Given the description of an element on the screen output the (x, y) to click on. 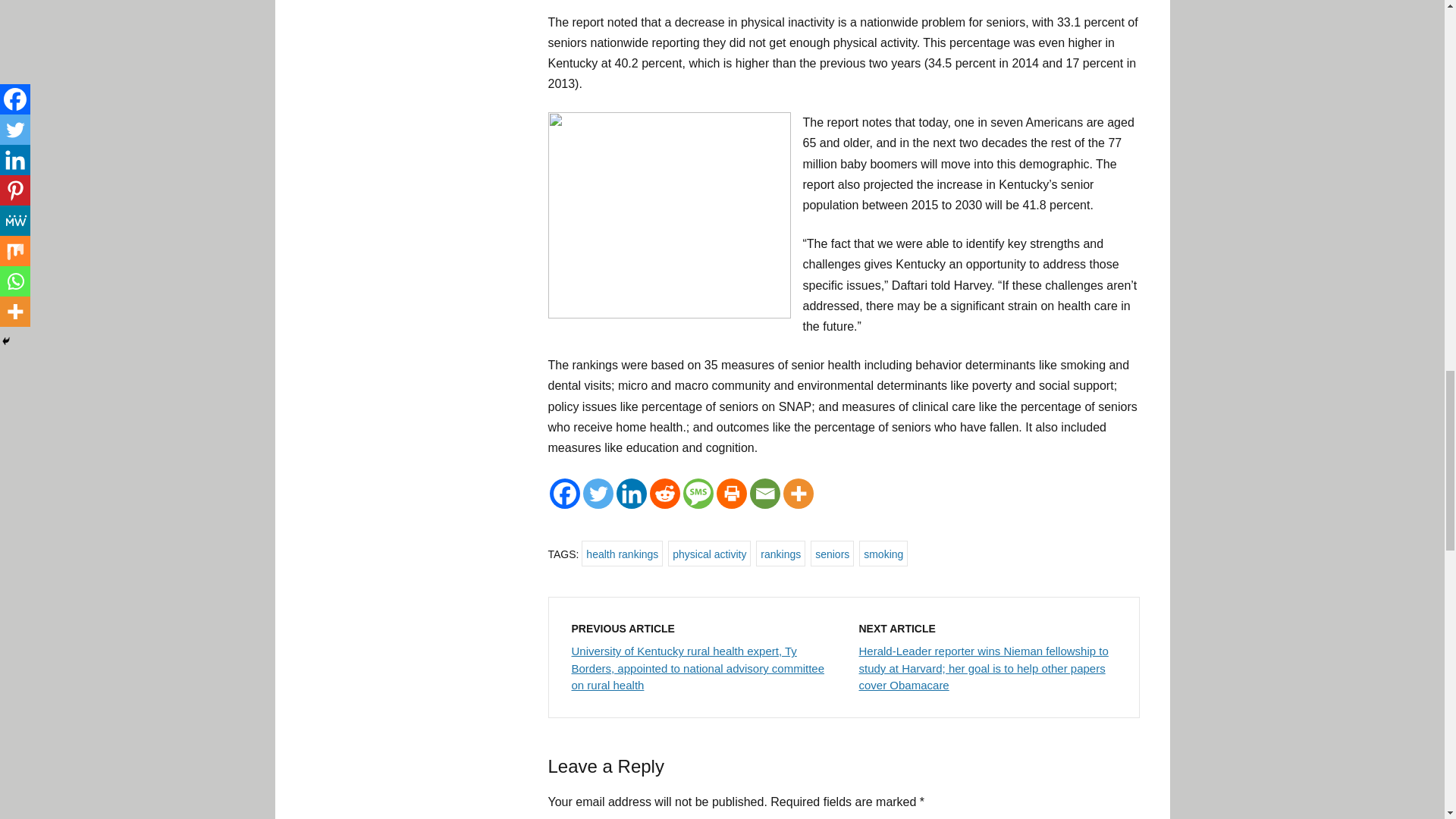
Facebook (563, 493)
Twitter (597, 493)
SMS (697, 493)
More (797, 493)
Reddit (664, 493)
Email (763, 493)
Print (730, 493)
Linkedin (630, 493)
